Given the description of an element on the screen output the (x, y) to click on. 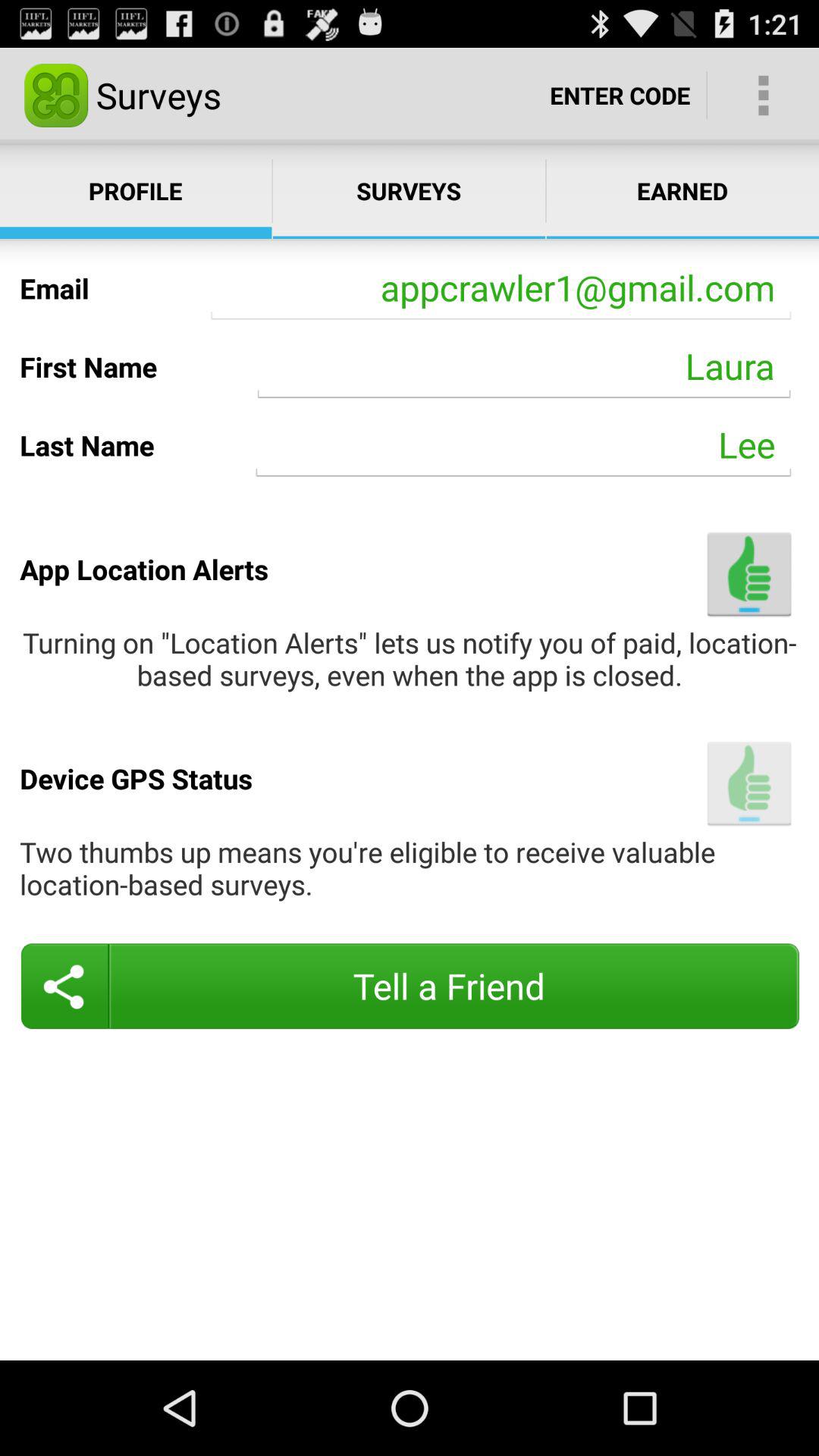
tap the icon below the lee item (749, 573)
